Given the description of an element on the screen output the (x, y) to click on. 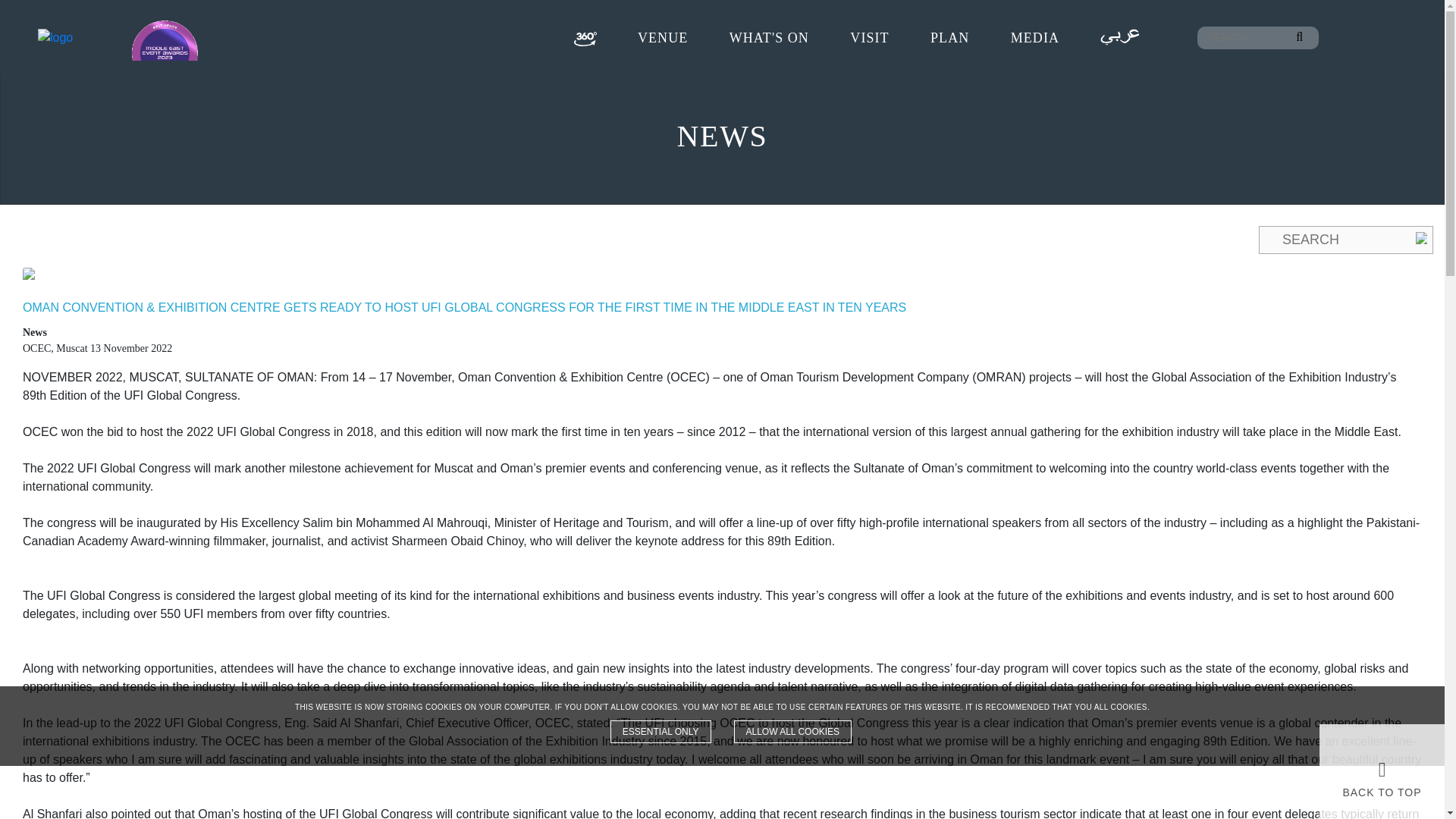
VISIT (869, 37)
VENUE (662, 37)
PLAN (949, 37)
MEDIA (1034, 37)
WHAT'S ON (769, 37)
